Given the description of an element on the screen output the (x, y) to click on. 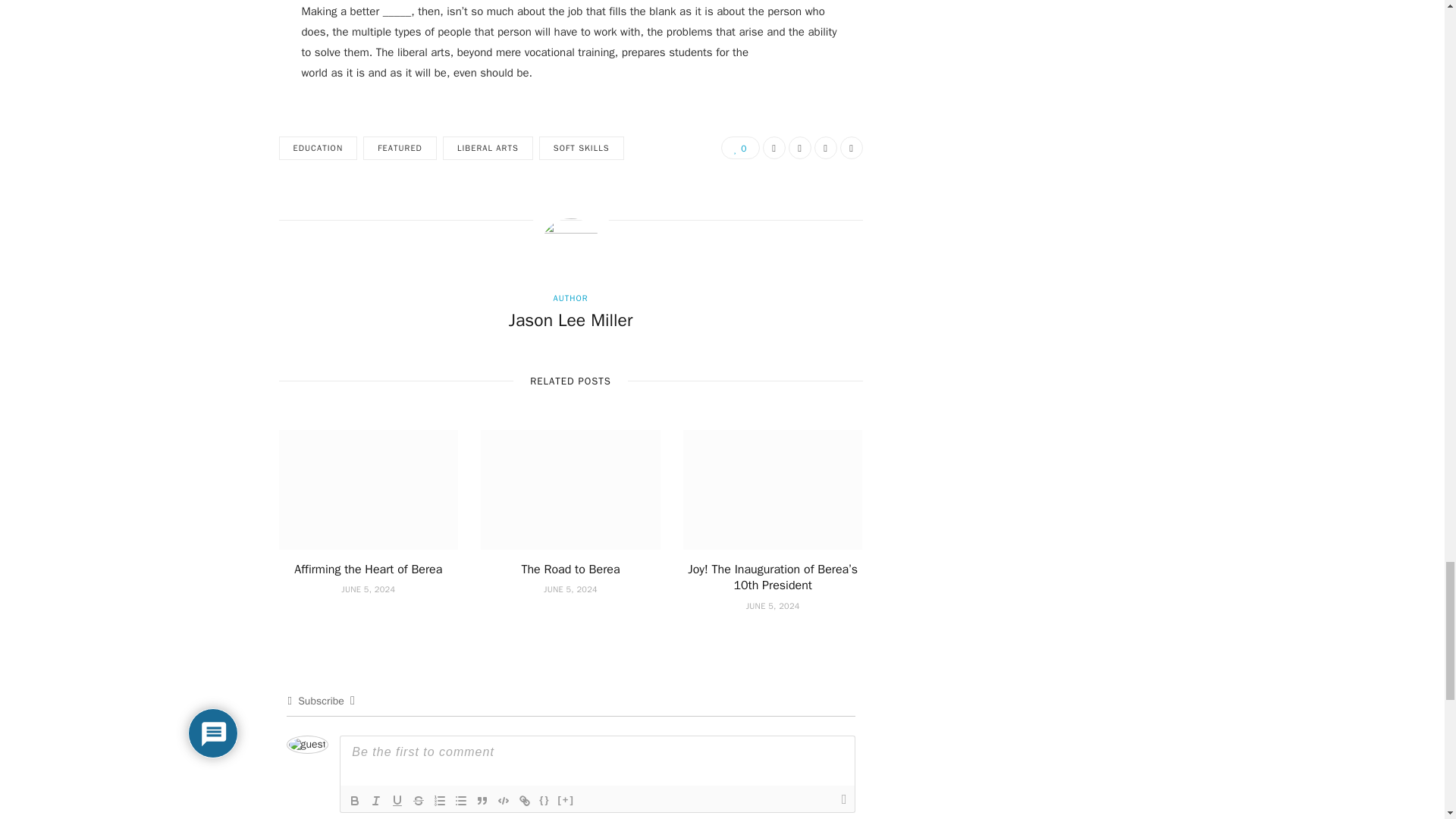
LinkedIn (851, 147)
Twitter (799, 147)
Facebook (774, 147)
Posts by Jason Lee Miller (570, 320)
Email (825, 147)
